Given the description of an element on the screen output the (x, y) to click on. 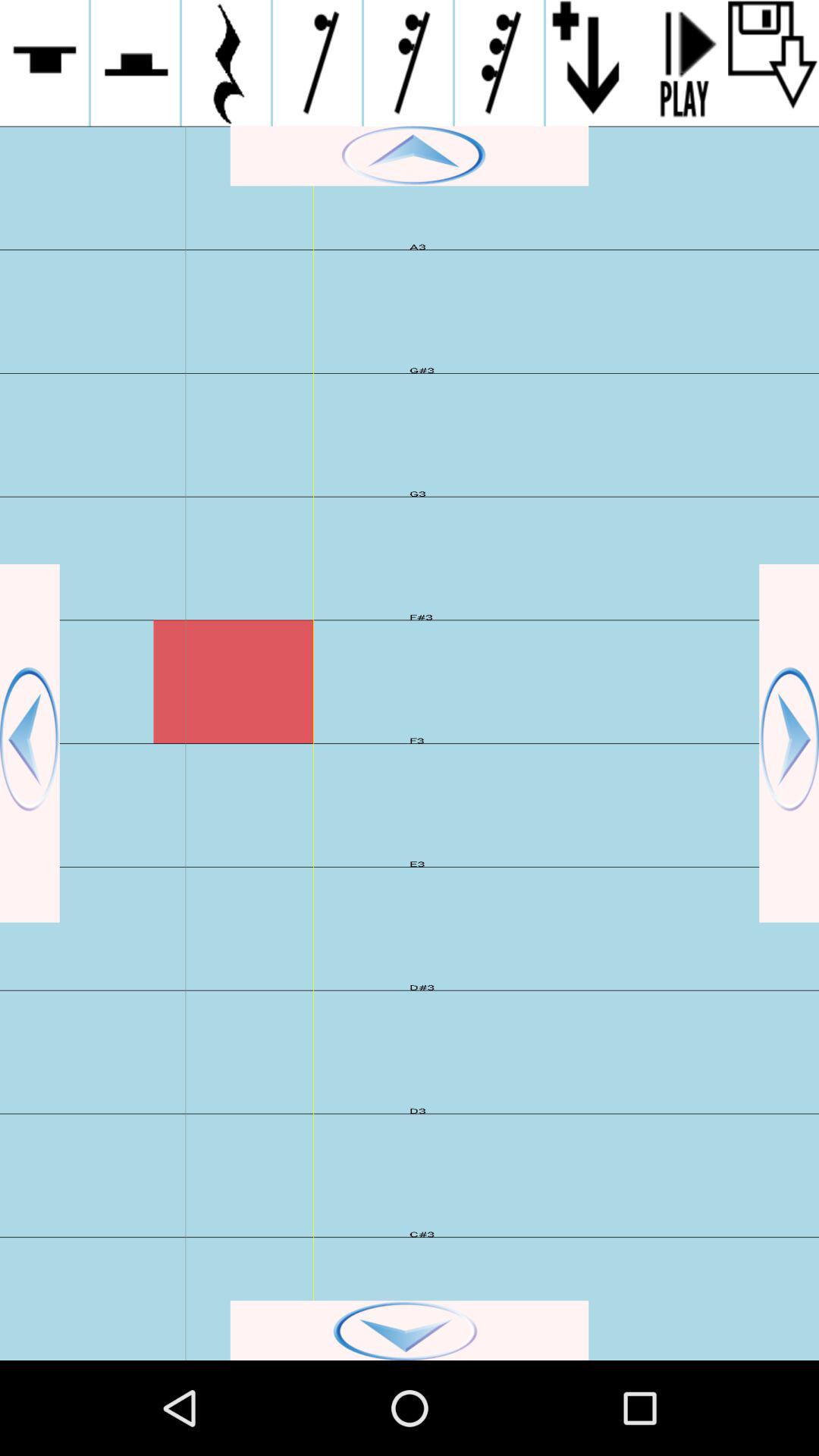
apply eighth note to song (317, 63)
